Given the description of an element on the screen output the (x, y) to click on. 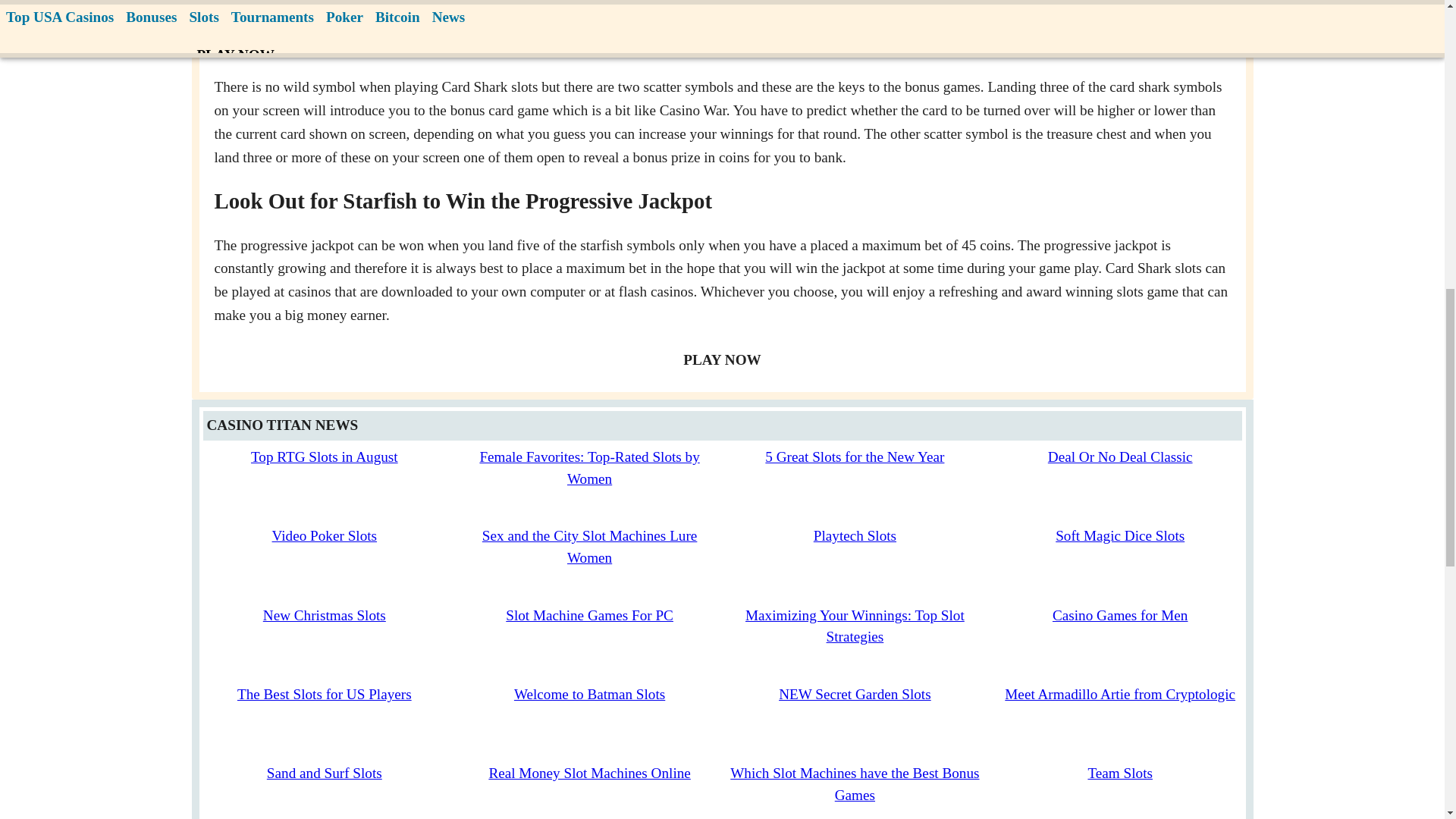
Soft Magic Dice Slots (1120, 535)
The Best Slots for US Players (324, 693)
5 Great Slots for the New Year (854, 456)
Playtech Slots (854, 535)
New Christmas Slots (324, 615)
Sex and the City Slot Machines Lure Women (589, 546)
Video Poker Slots (324, 535)
Deal Or No Deal Classic (1120, 456)
PLAY NOW (722, 360)
Maximizing Your Winnings: Top Slot Strategies (854, 626)
